Given the description of an element on the screen output the (x, y) to click on. 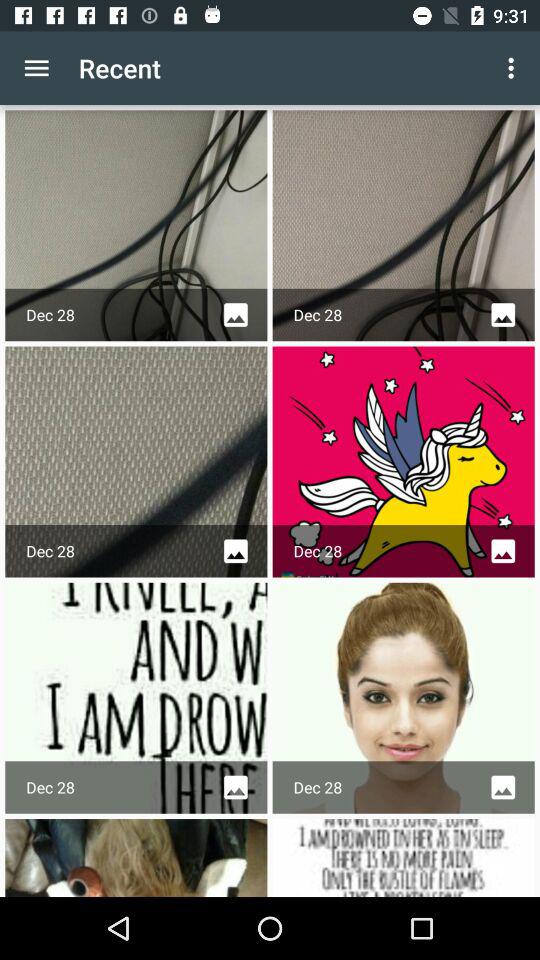
tap on the image at bottom left (135, 857)
click on third image from top right corner (404, 698)
select the image which is titled with dec 28 (404, 698)
click on the text image next to the face image (135, 698)
select the image which is at the extreme bottom  left hand side (135, 857)
select the first image (135, 225)
click the image button (503, 314)
